Given the description of an element on the screen output the (x, y) to click on. 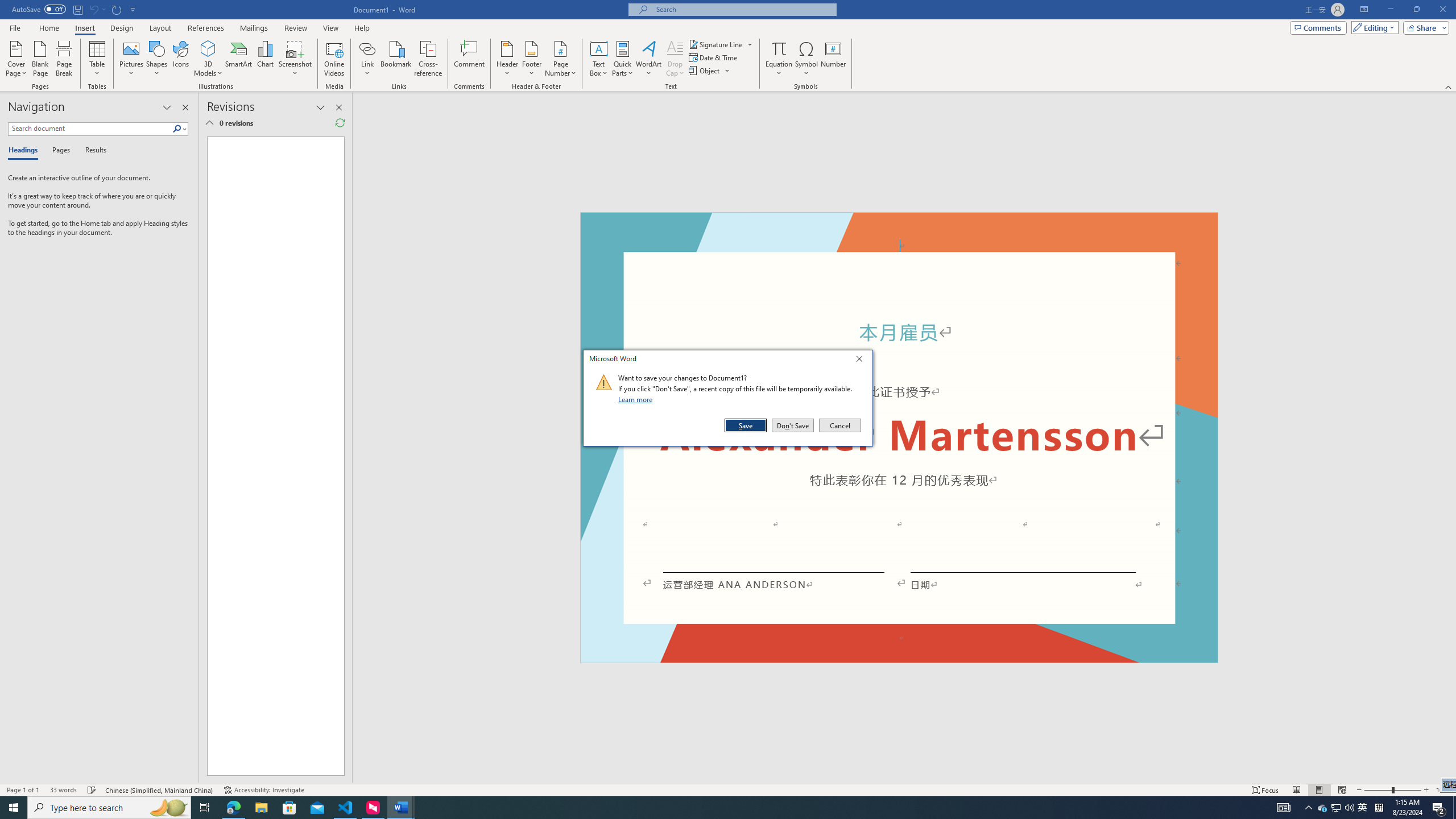
Blank Page (40, 58)
Symbol (806, 58)
Comment (469, 58)
Quick Parts (622, 58)
